Given the description of an element on the screen output the (x, y) to click on. 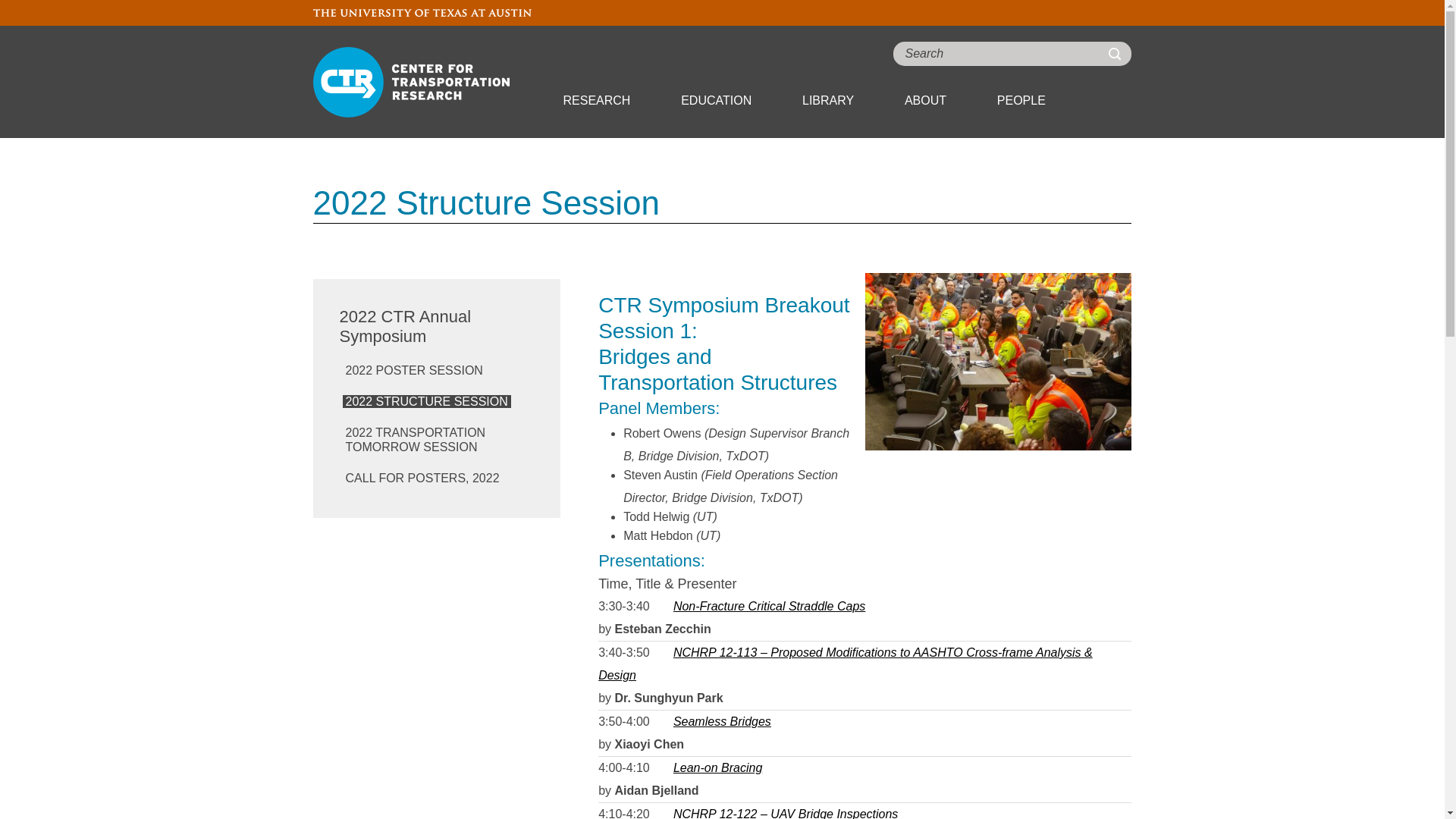
TxDOT Research Library operated by CTR Library (827, 100)
RESEARCH (596, 100)
LIBRARY (827, 100)
EDUCATION (716, 100)
ABOUT (925, 100)
enter terms to search website (1012, 53)
